Given the description of an element on the screen output the (x, y) to click on. 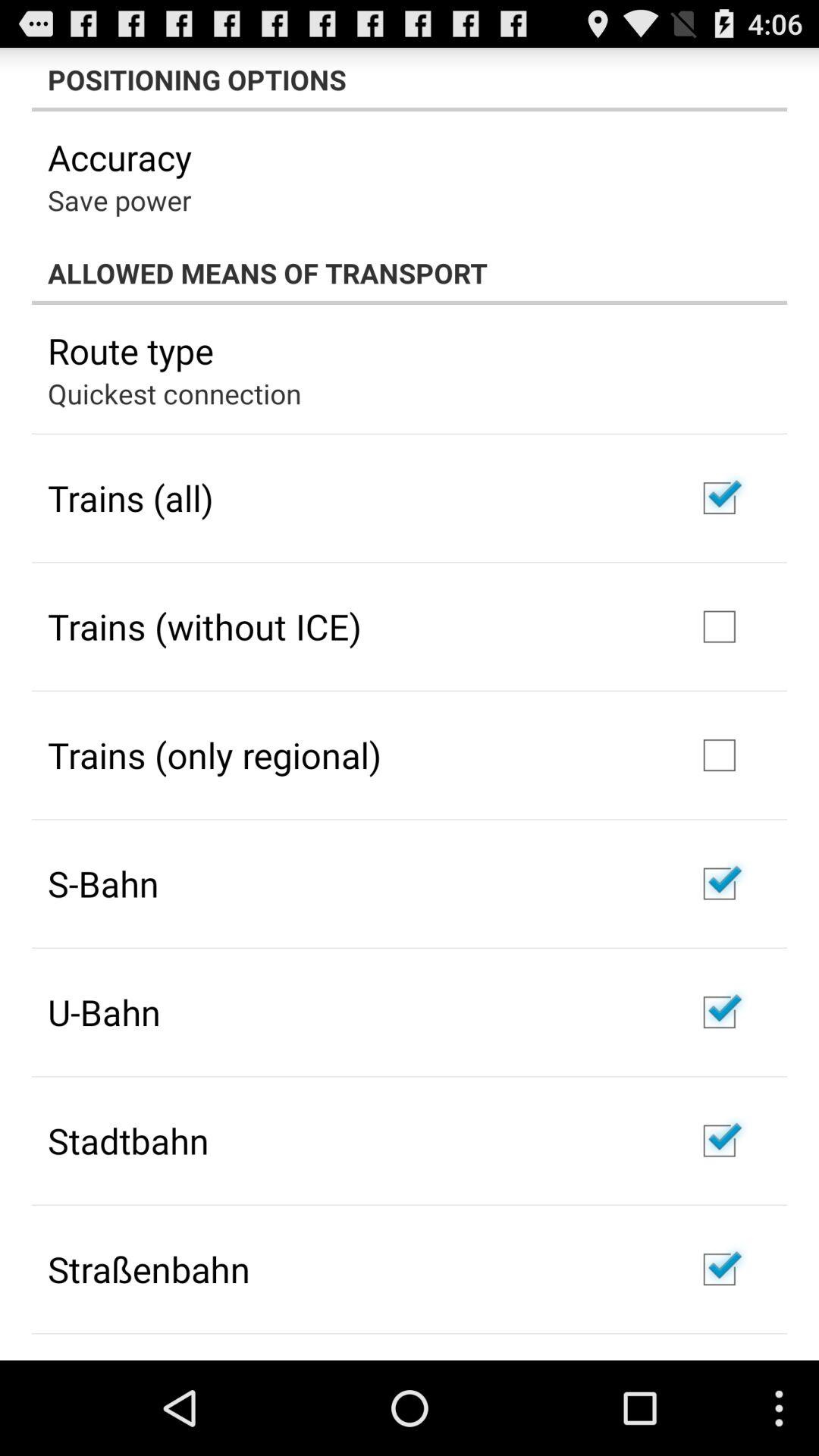
tap item below allowed means of app (130, 350)
